Given the description of an element on the screen output the (x, y) to click on. 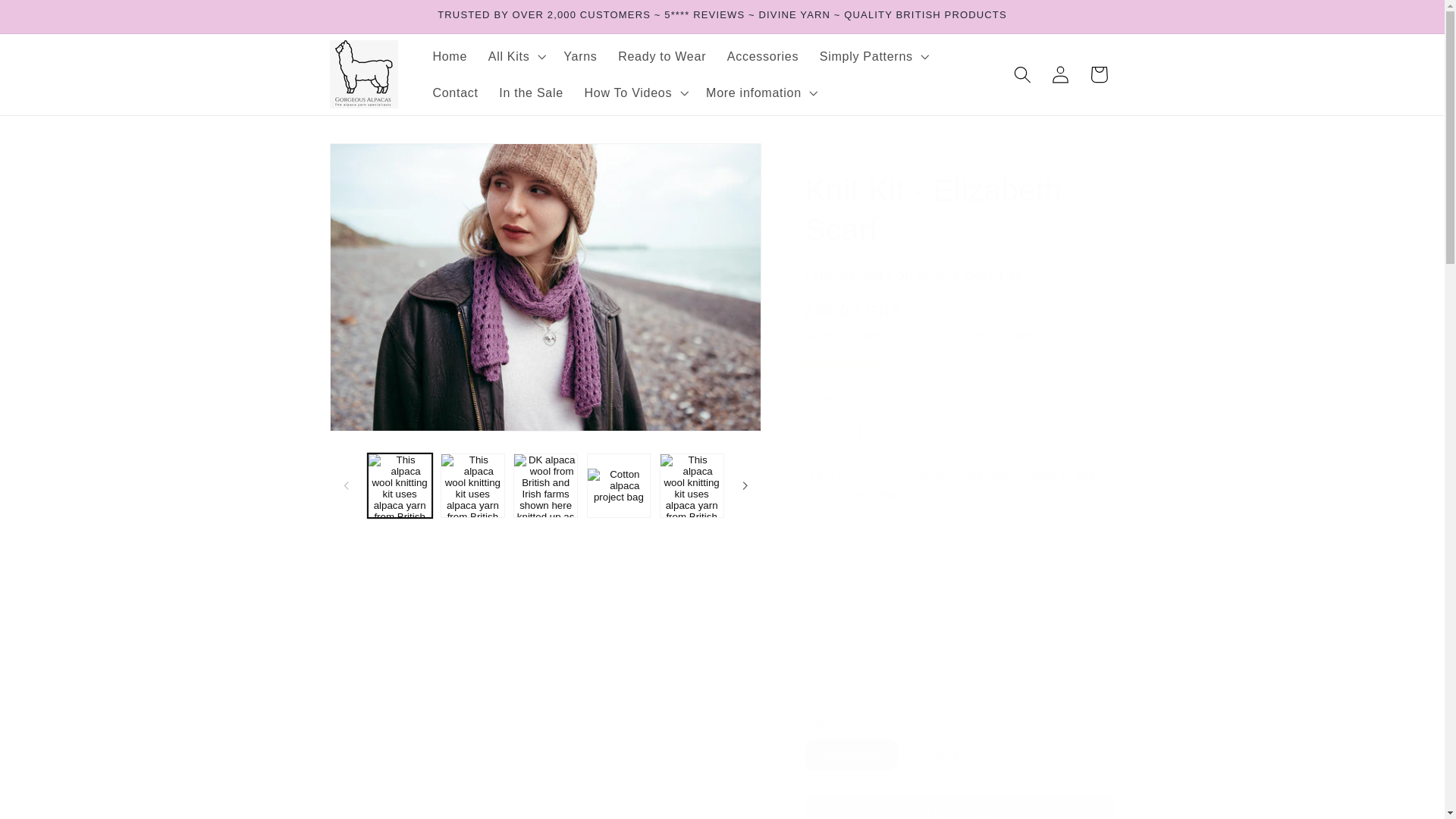
1 (858, 431)
Skip to content (52, 20)
Open media 1 in modal (545, 287)
